Given the description of an element on the screen output the (x, y) to click on. 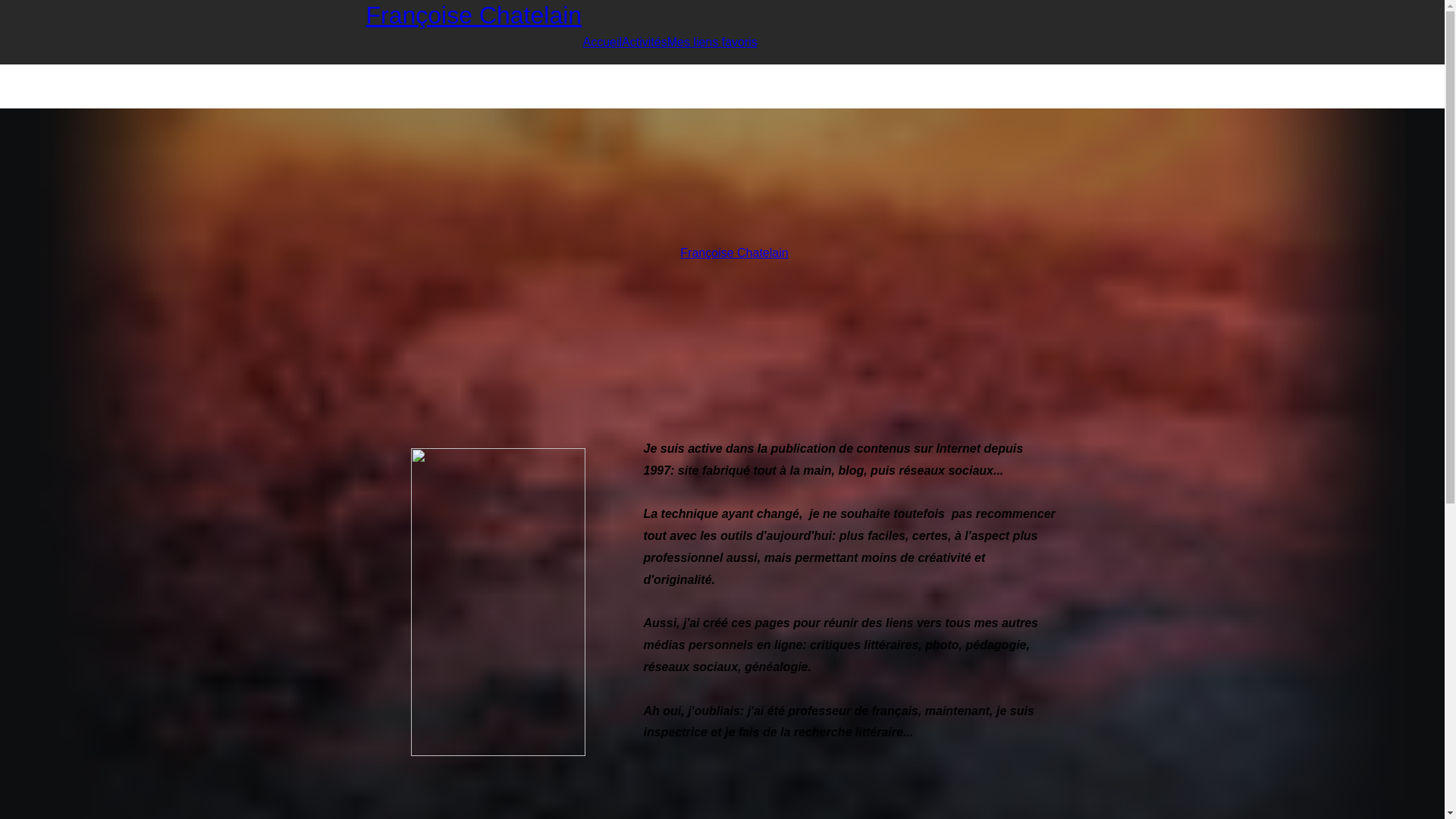
Accueil Element type: text (601, 42)
Mes liens favoris Element type: text (712, 42)
